Given the description of an element on the screen output the (x, y) to click on. 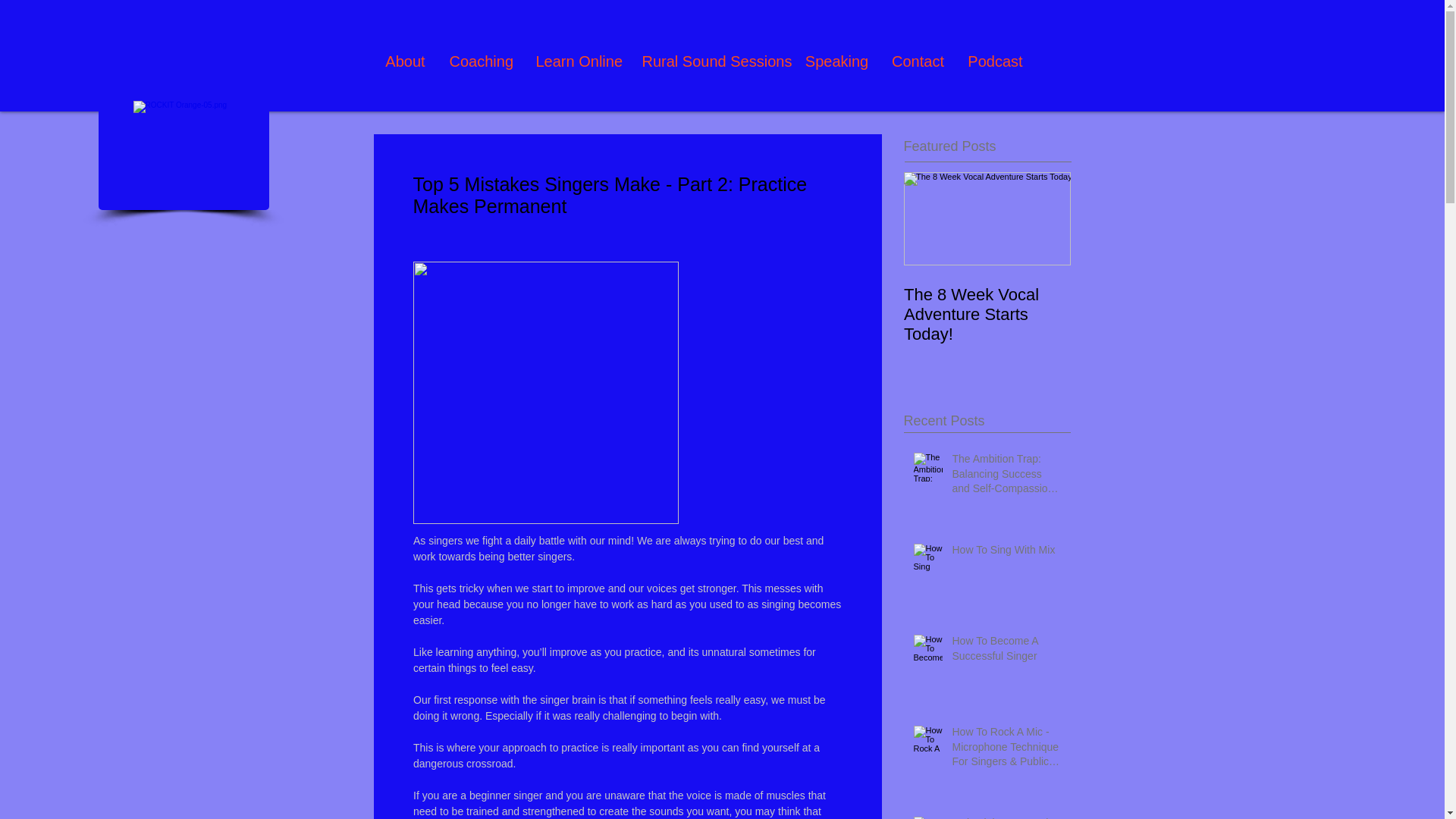
Rural Sound Sessions (711, 60)
Contact (917, 60)
About (405, 60)
The 8 Week Vocal Adventure Starts Today! (987, 314)
How To Become A Successful Singer (1006, 651)
Learn Online (577, 60)
How To Sing With Mix (1006, 553)
Speaking (836, 60)
Podcast (994, 60)
